Given the description of an element on the screen output the (x, y) to click on. 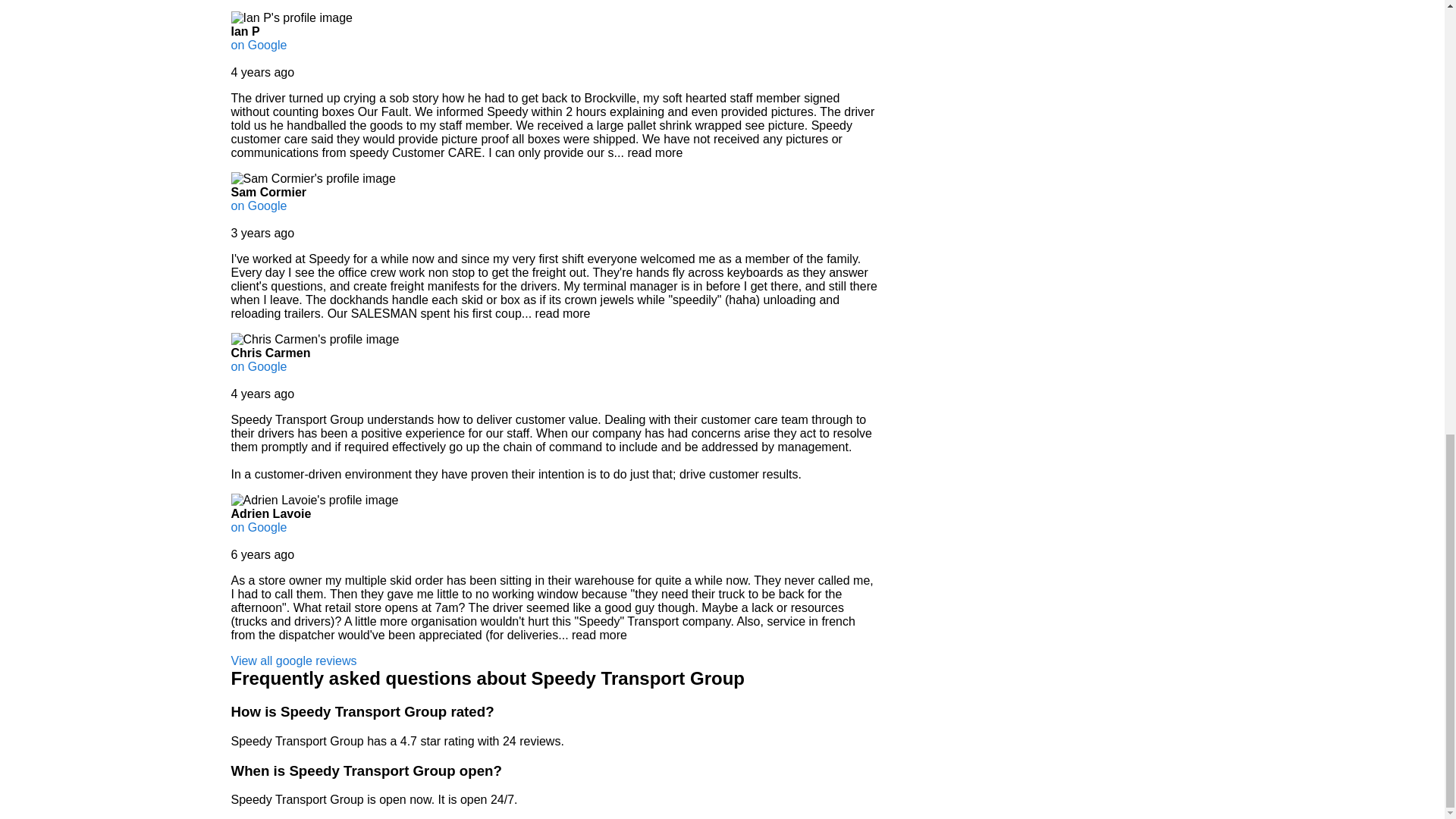
View all google reviews (293, 660)
on Google (258, 205)
on Google (258, 366)
on Google (258, 526)
on Google (258, 44)
